Given the description of an element on the screen output the (x, y) to click on. 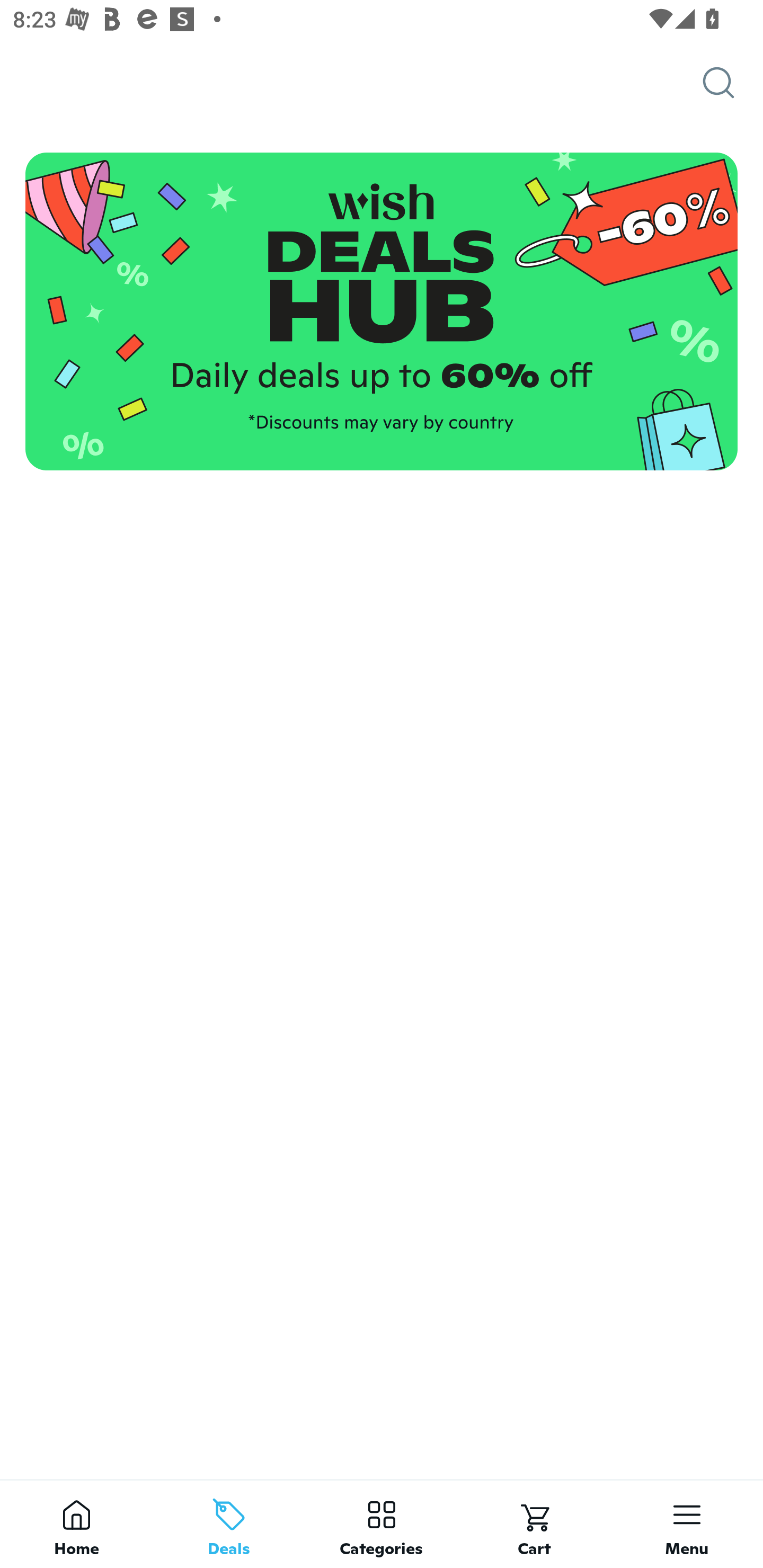
Search (732, 82)
Home (76, 1523)
Deals (228, 1523)
Categories (381, 1523)
Cart (533, 1523)
Menu (686, 1523)
